Given the description of an element on the screen output the (x, y) to click on. 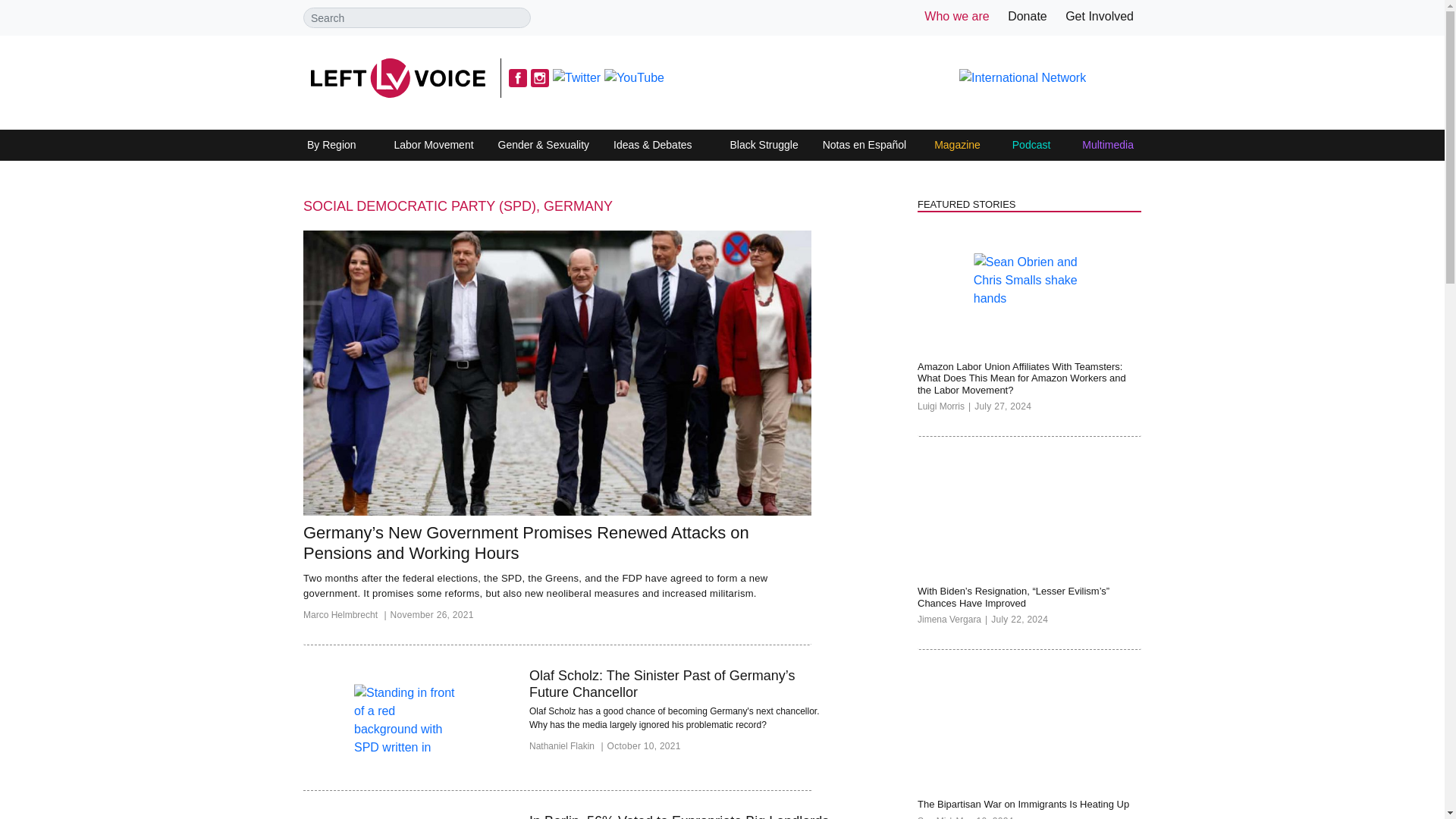
Labor Movement (433, 145)
Who we are (956, 15)
Nathaniel Flakin (568, 749)
Podcast (1031, 145)
Black Struggle (763, 145)
Marco Helmbrecht (346, 618)
Left Voice (397, 77)
Multimedia (1107, 145)
Get Involved (1099, 15)
Donate (1027, 15)
